Given the description of an element on the screen output the (x, y) to click on. 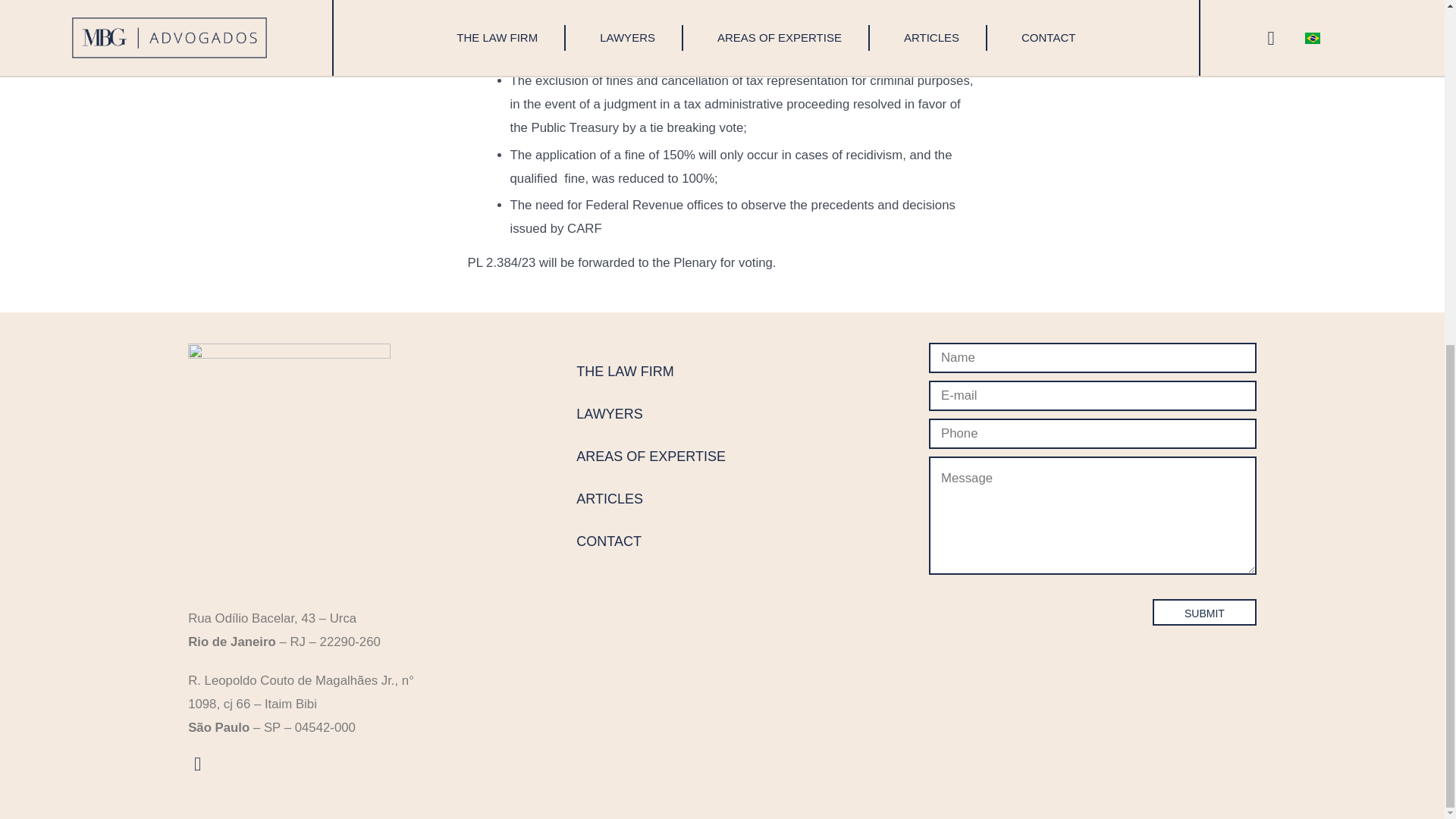
LAWYERS (651, 413)
Submit (1204, 611)
ARTICLES (651, 498)
AREAS OF EXPERTISE (651, 456)
Submit (1204, 611)
THE LAW FIRM (651, 370)
CONTACT (651, 541)
